Given the description of an element on the screen output the (x, y) to click on. 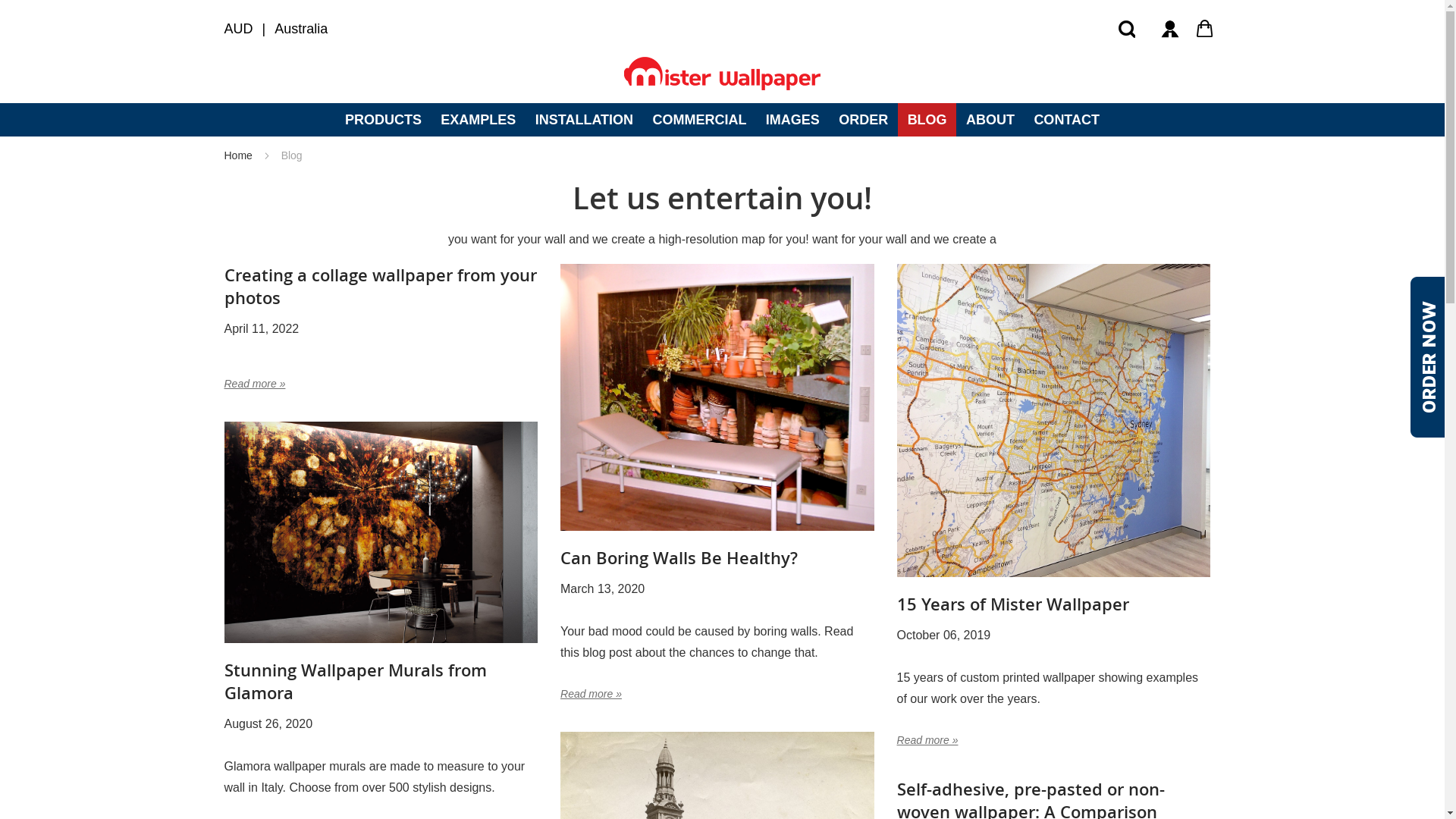
IMAGES Element type: text (792, 119)
Search Images Element type: hover (1126, 28)
BLOG Element type: text (926, 119)
INSTALLATION Element type: text (584, 119)
15 Years of Mister Wallpaper Element type: text (1013, 604)
Stunning Wallpaper Murals from Glamora Element type: text (355, 681)
ORDER Element type: text (863, 119)
Stunning Wallpaper Murals from Glamora Element type: hover (381, 534)
Home Element type: text (239, 155)
EXAMPLES Element type: text (478, 119)
Can Boring Walls Be Healthy? Element type: hover (717, 399)
ABOUT Element type: text (989, 119)
Can Boring Walls Be Healthy? Element type: text (678, 557)
Creating a collage wallpaper from your photos Element type: text (380, 286)
PRODUCTS Element type: text (382, 119)
Shopping Cart Element type: hover (1205, 28)
  Element type: text (1205, 28)
Mister Wallpaper Element type: hover (721, 73)
Customer Login Element type: hover (1169, 28)
CONTACT Element type: text (1066, 119)
15 Years of Mister Wallpaper Element type: hover (1054, 422)
COMMERCIAL Element type: text (699, 119)
  Element type: text (1126, 28)
  Element type: text (1169, 28)
